Given the description of an element on the screen output the (x, y) to click on. 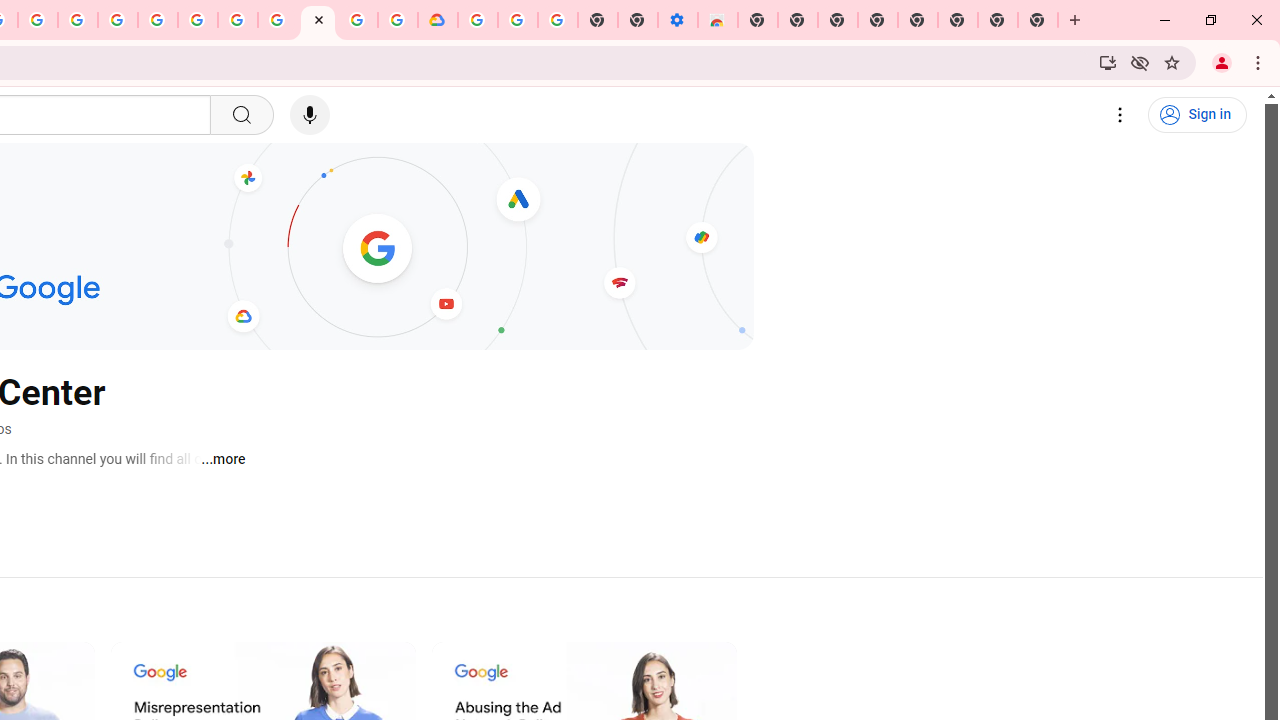
Browse the Google Chrome Community - Google Chrome Community (397, 20)
